Given the description of an element on the screen output the (x, y) to click on. 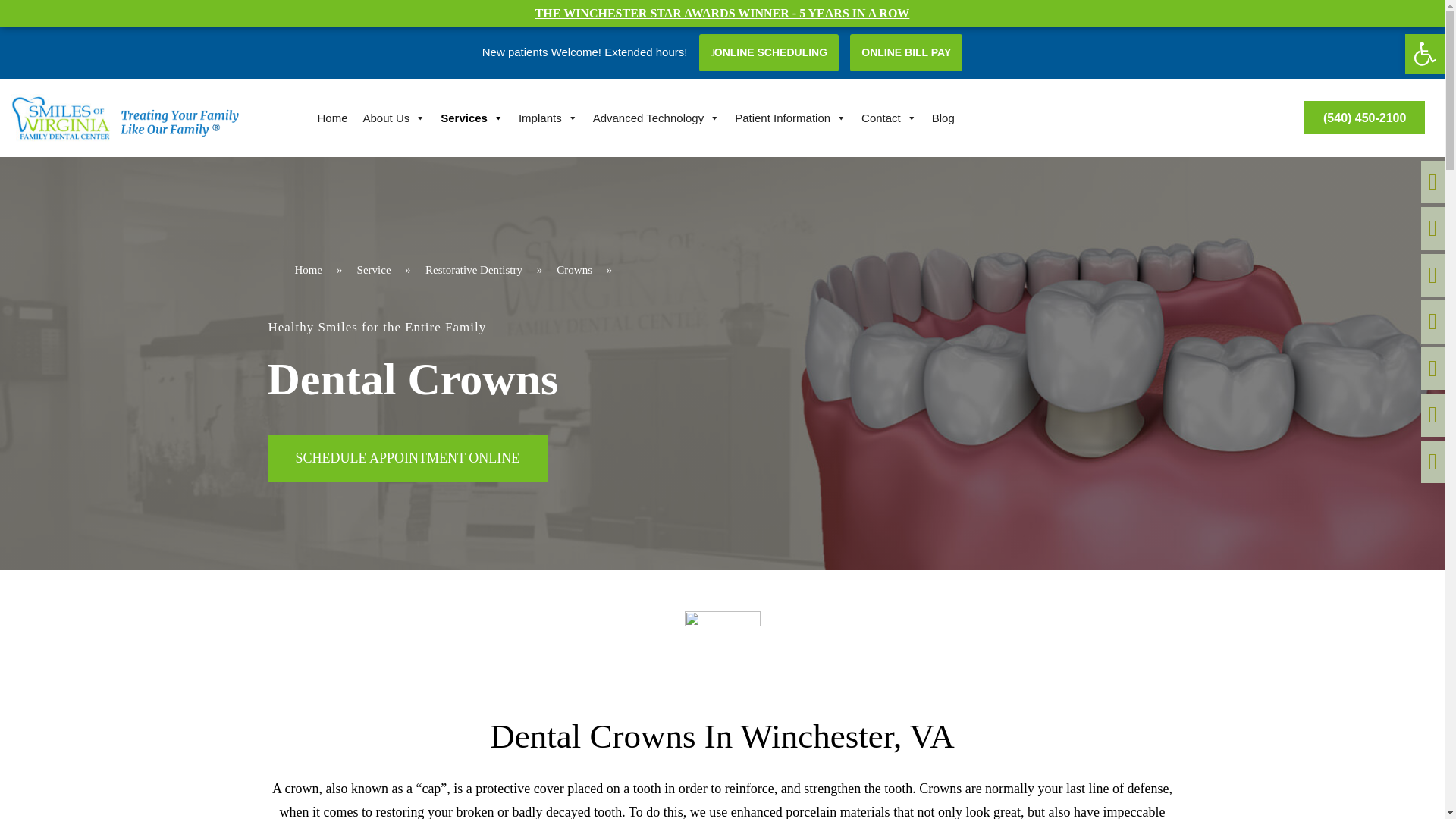
Restorative Dentistry (473, 270)
ONLINE BILL PAY (906, 52)
Smiles of Virginia Family Dental Center (208, 155)
Crowns (573, 270)
Home (331, 118)
Services (471, 118)
Home (308, 270)
About Us (394, 118)
Accessibility Tools (1424, 53)
Service (373, 270)
ONLINE SCHEDULING (768, 52)
THE WINCHESTER STAR AWARDS WINNER - 5 YEARS IN A ROW (722, 12)
